Given the description of an element on the screen output the (x, y) to click on. 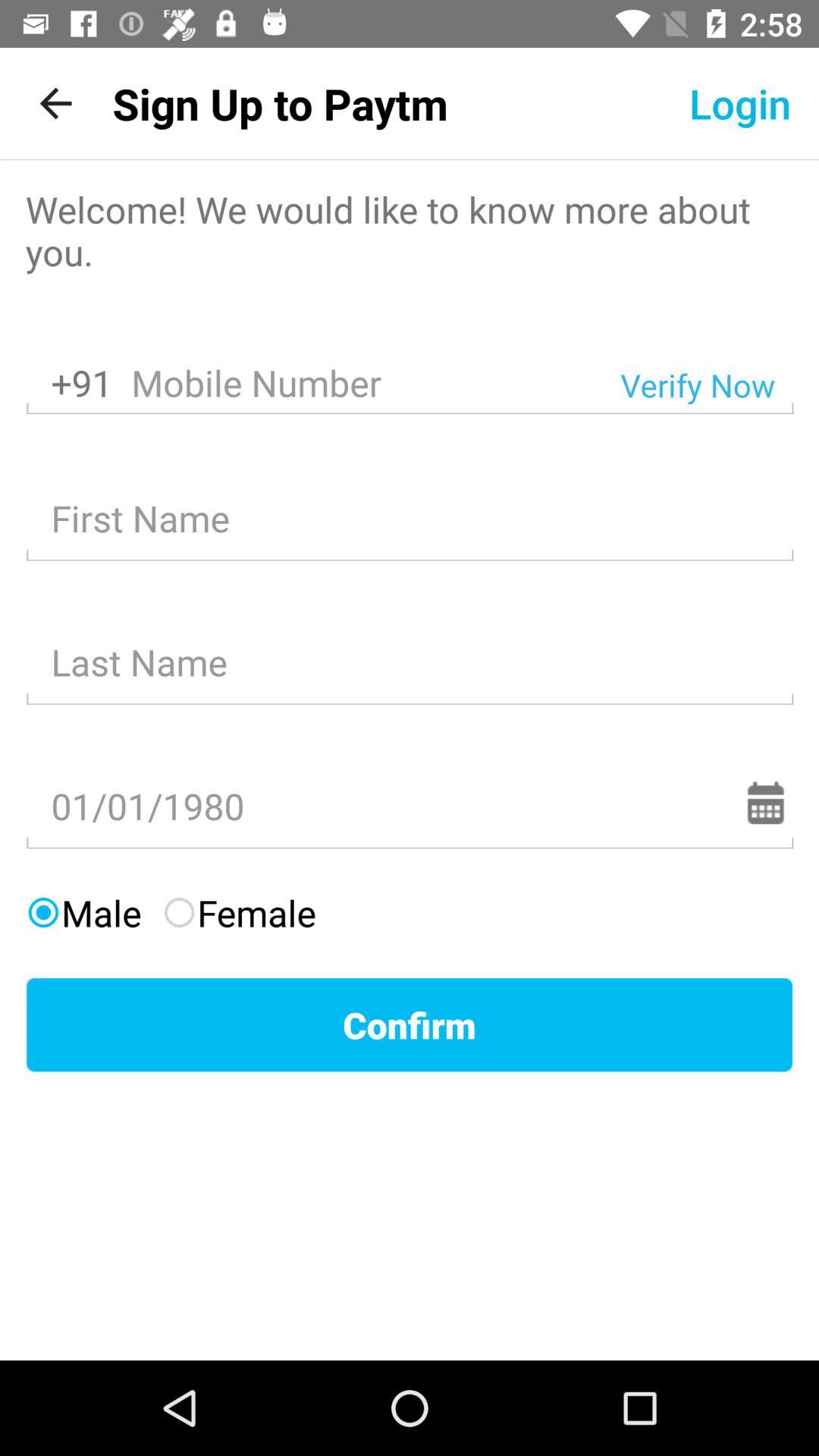
select sign up to item (280, 103)
